Given the description of an element on the screen output the (x, y) to click on. 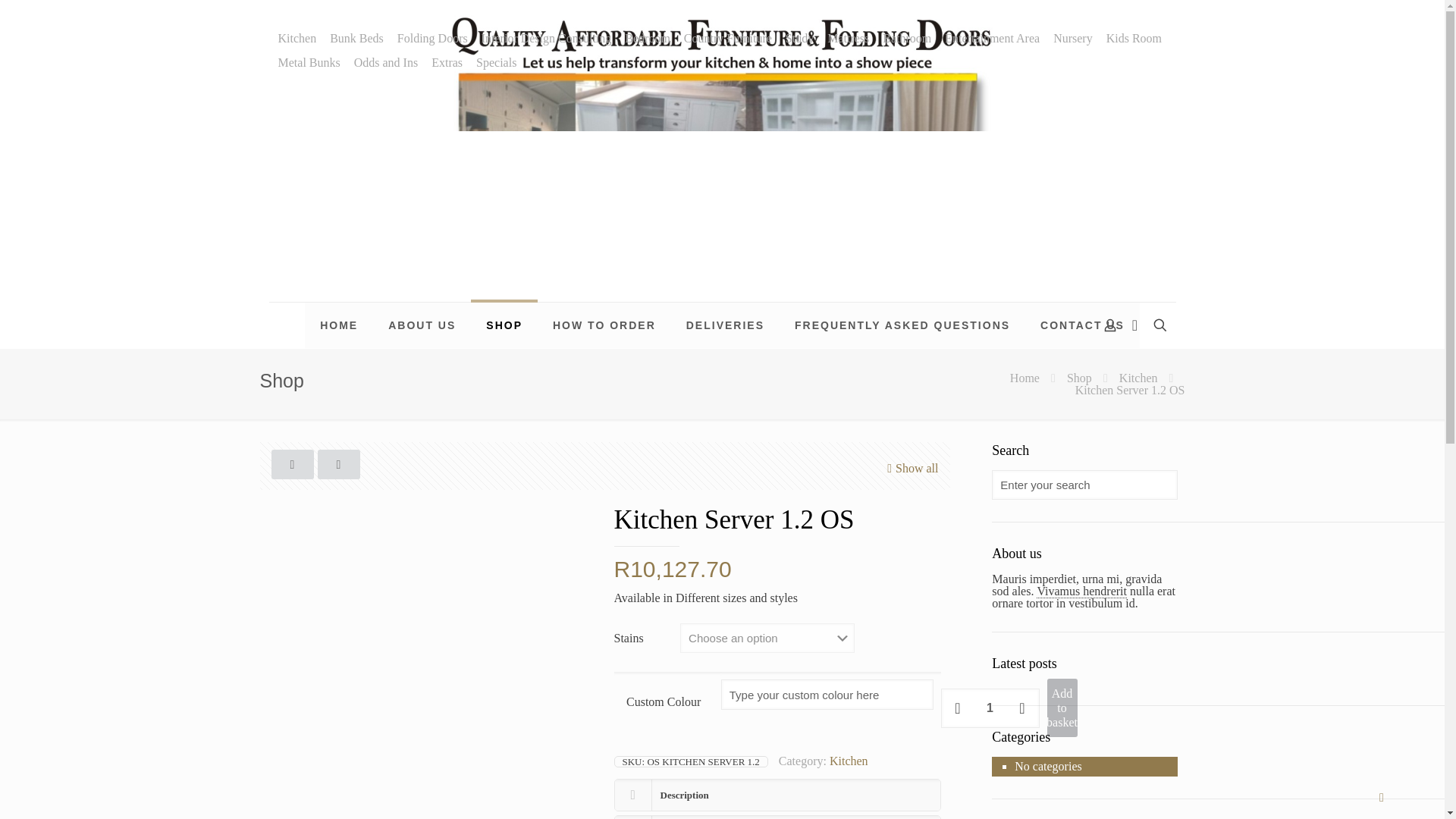
Kids Room (1133, 38)
DELIVERIES (724, 325)
HOME (338, 325)
Country Furniture (727, 38)
Folding Doors (432, 38)
Home (1024, 377)
1 (989, 708)
CONTACT US (1082, 325)
Bedroom (646, 38)
